Given the description of an element on the screen output the (x, y) to click on. 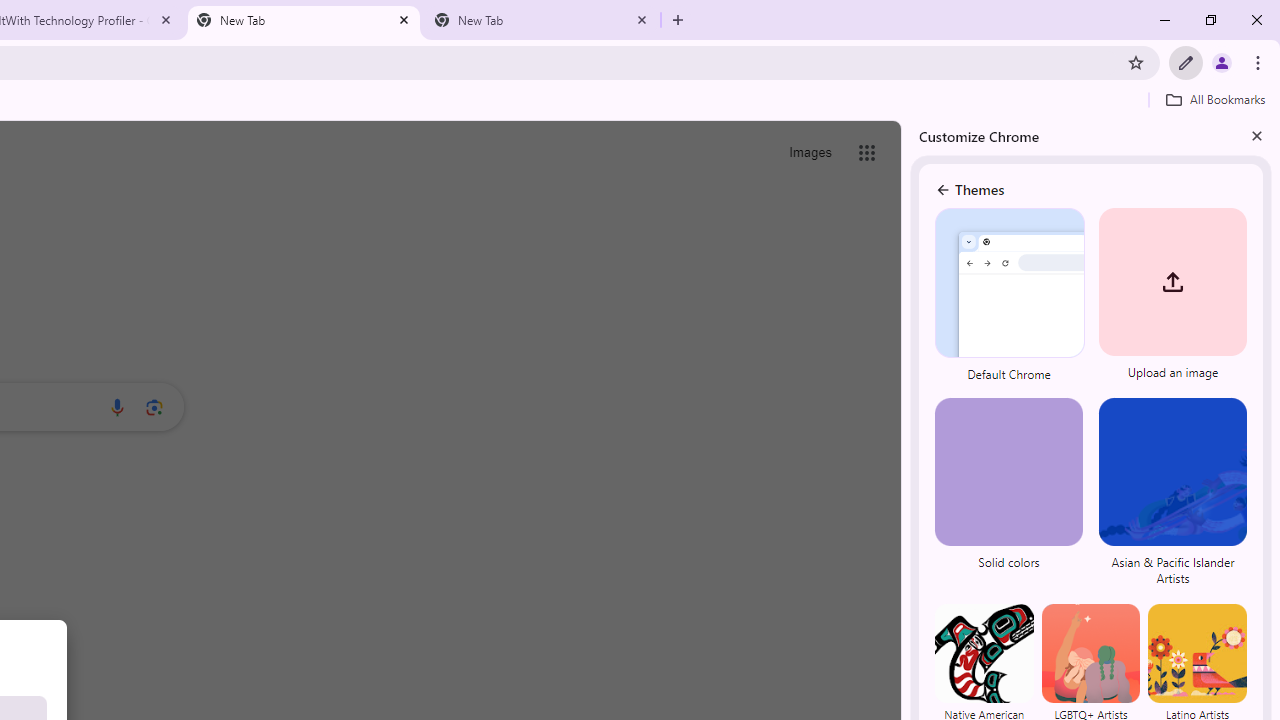
AutomationID: cornerNewTabPage (1032, 305)
Customize Chrome (1185, 62)
Solid colors (1010, 494)
Default Chrome (1010, 296)
New Tab (541, 20)
Asian & Pacific Islander Artists (1170, 494)
Upload an image (1170, 296)
